Given the description of an element on the screen output the (x, y) to click on. 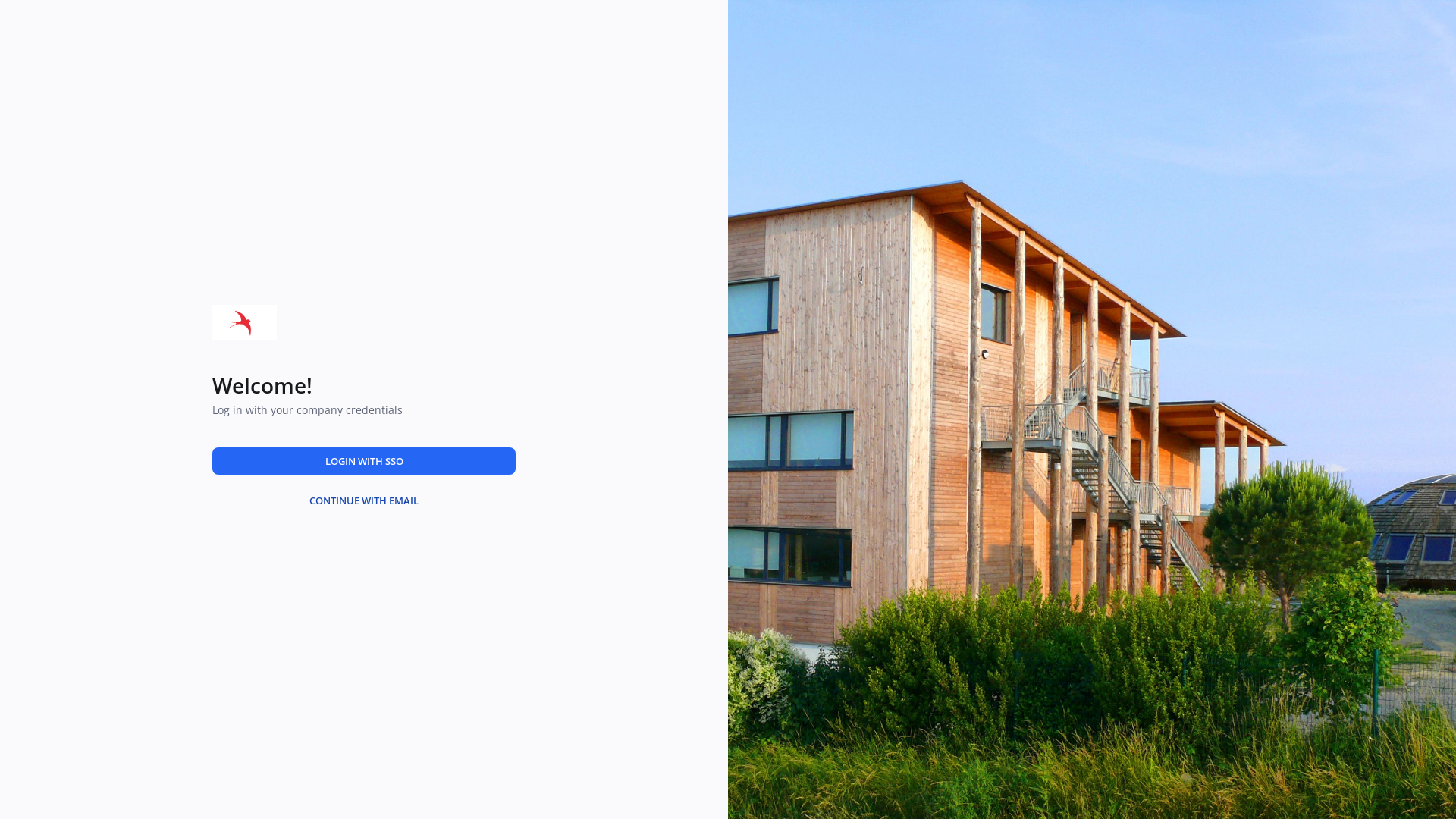
CONTINUE WITH EMAIL Element type: text (363, 500)
LOGIN WITH SSO Element type: text (363, 460)
